Given the description of an element on the screen output the (x, y) to click on. 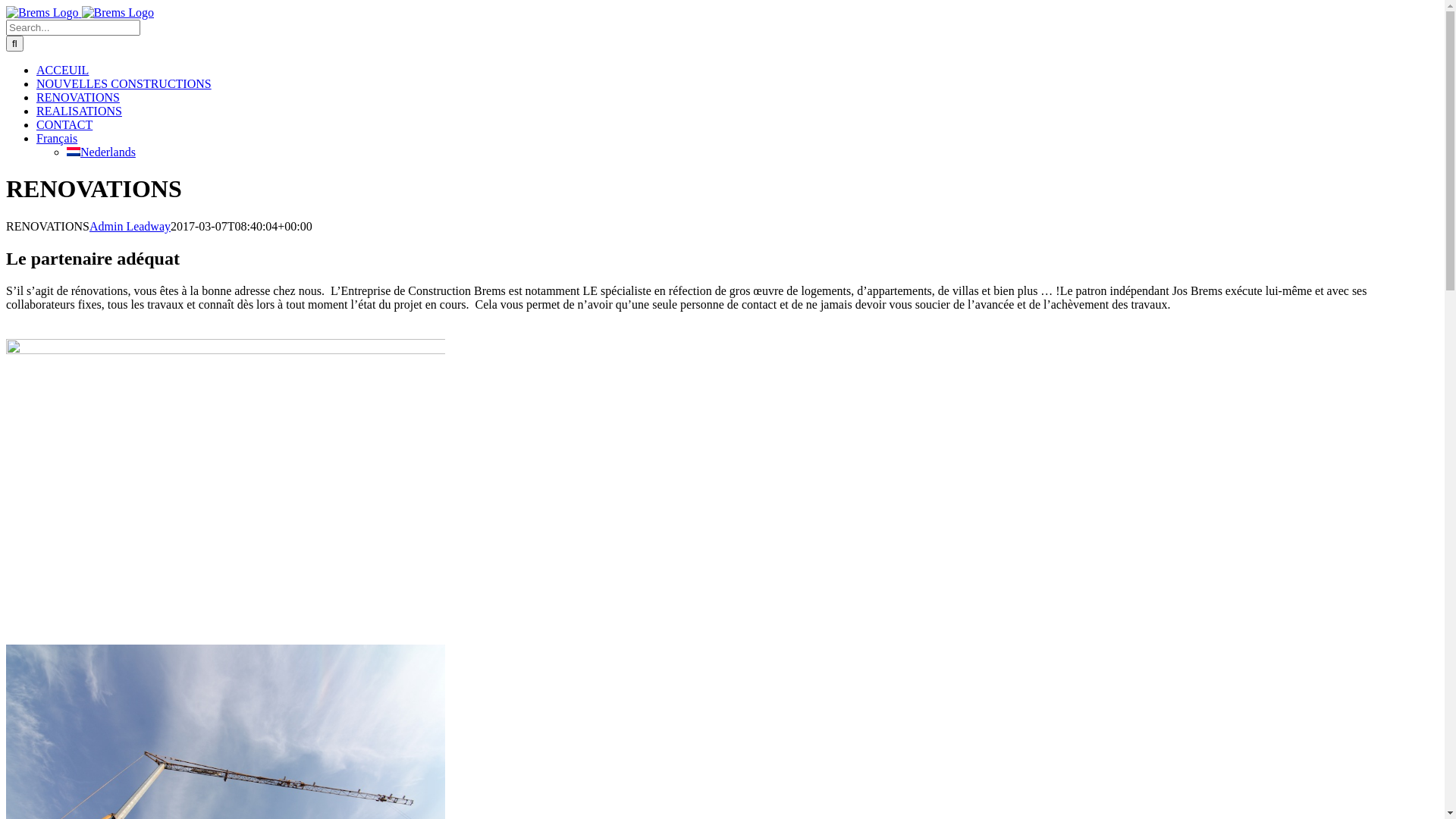
REALISATIONS Element type: text (79, 110)
IMG_8497 Element type: hover (225, 349)
NOUVELLES CONSTRUCTIONS Element type: text (123, 83)
Admin Leadway Element type: text (129, 225)
CONTACT Element type: text (64, 124)
Skip to content Element type: text (5, 5)
Nederlands Element type: text (100, 151)
ACCEUIL Element type: text (62, 69)
RENOVATIONS Element type: text (77, 97)
